Given the description of an element on the screen output the (x, y) to click on. 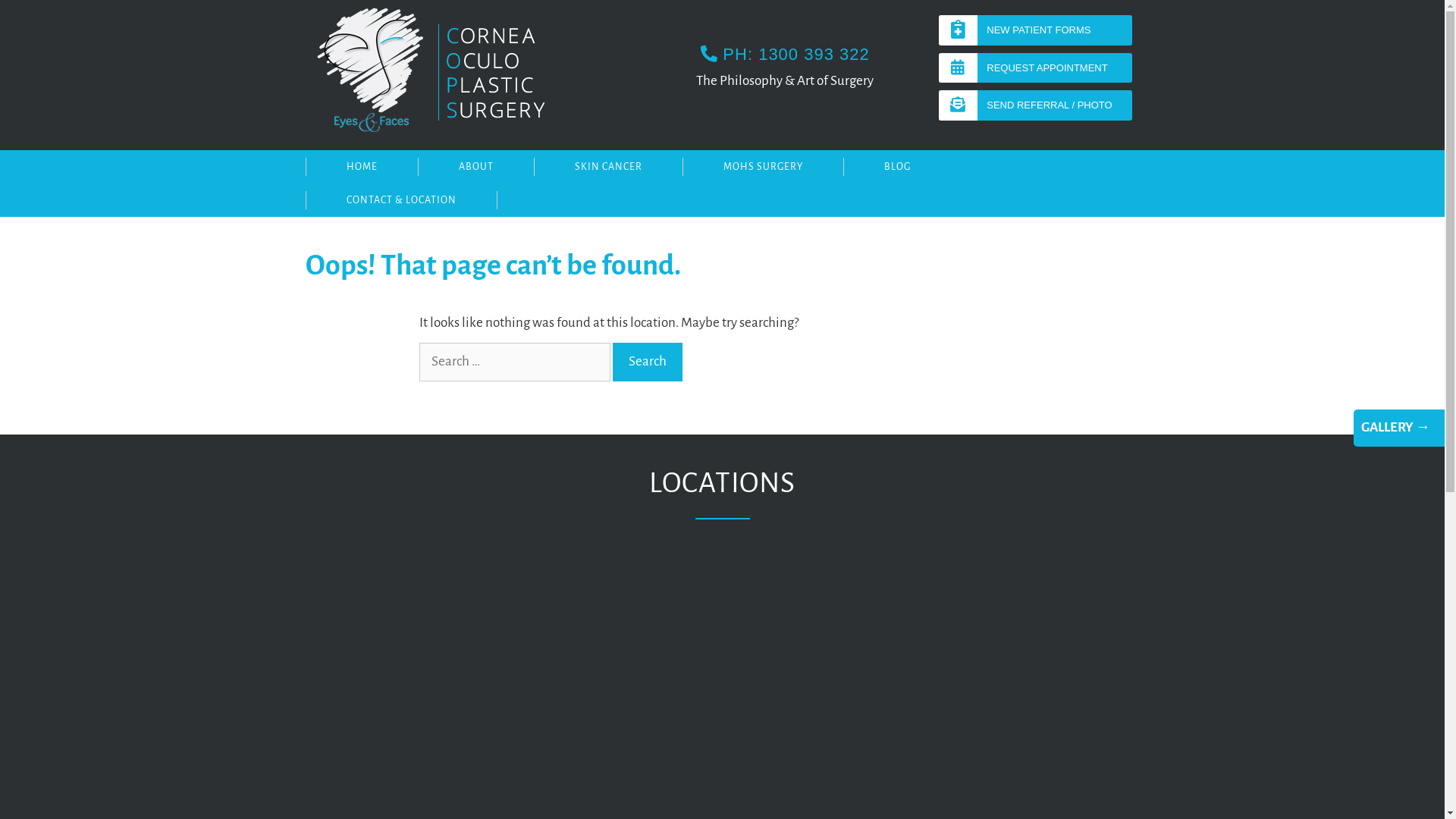
MOHS SURGERY Element type: text (762, 166)
ABOUT Element type: text (475, 166)
SEND REFERRAL / PHOTO Element type: text (1035, 105)
HOME Element type: text (360, 166)
SKIN CANCER Element type: text (607, 166)
PH: 1300 393 322 Element type: text (784, 53)
BLOG Element type: text (896, 166)
NEW PATIENT FORMS Element type: text (1035, 30)
REQUEST APPOINTMENT Element type: text (1035, 68)
Search Element type: text (647, 361)
Search for: Element type: hover (513, 361)
CONTACT & LOCATION Element type: text (400, 200)
